Given the description of an element on the screen output the (x, y) to click on. 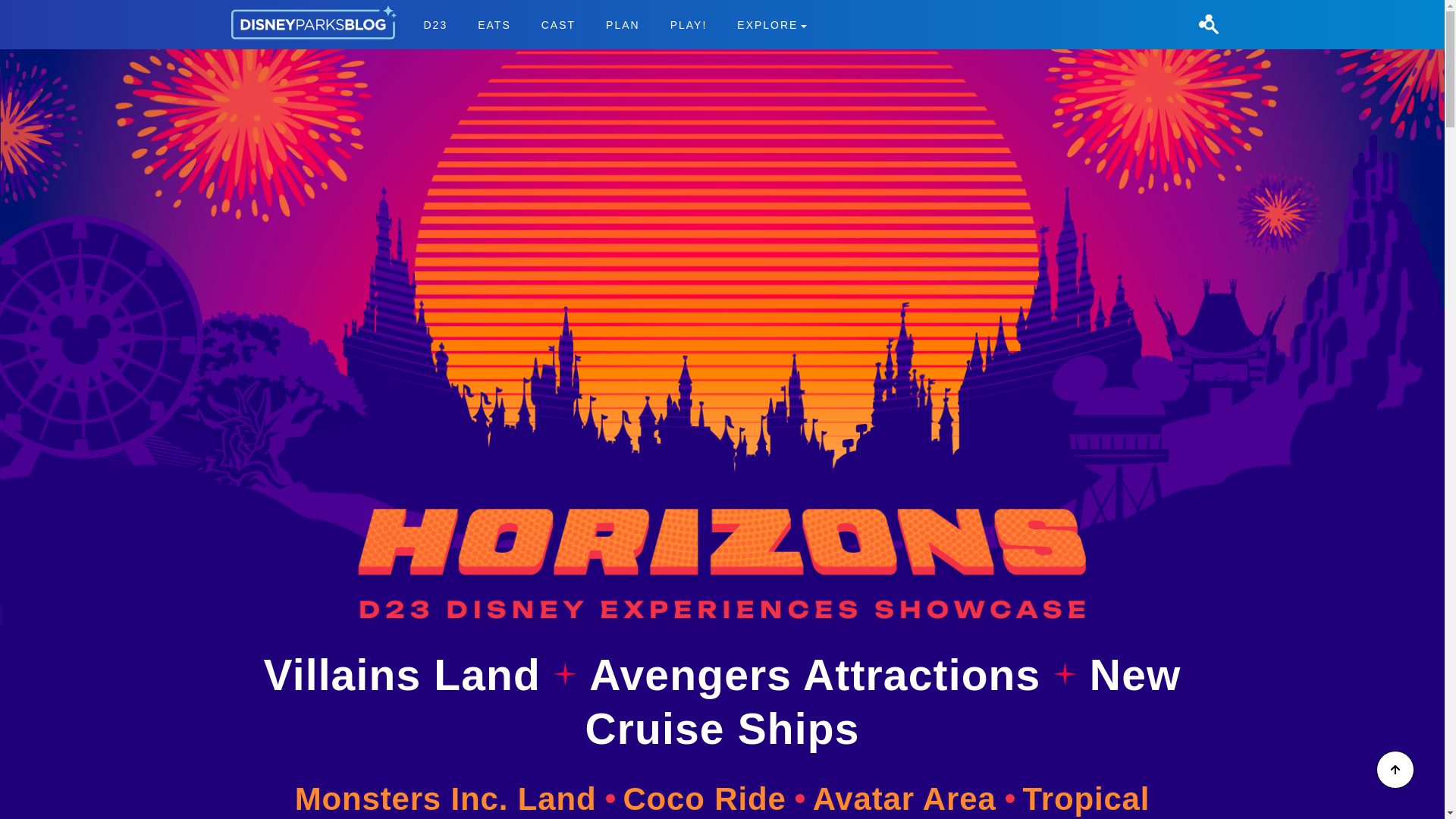
EXPLORE (771, 23)
CAST (558, 23)
Monsters Inc. Land (454, 798)
D23 (614, 23)
Villains Land (435, 23)
Tropical Americas (408, 674)
PLAN (834, 800)
Coco Ride (622, 23)
Skip to content (714, 798)
